Given the description of an element on the screen output the (x, y) to click on. 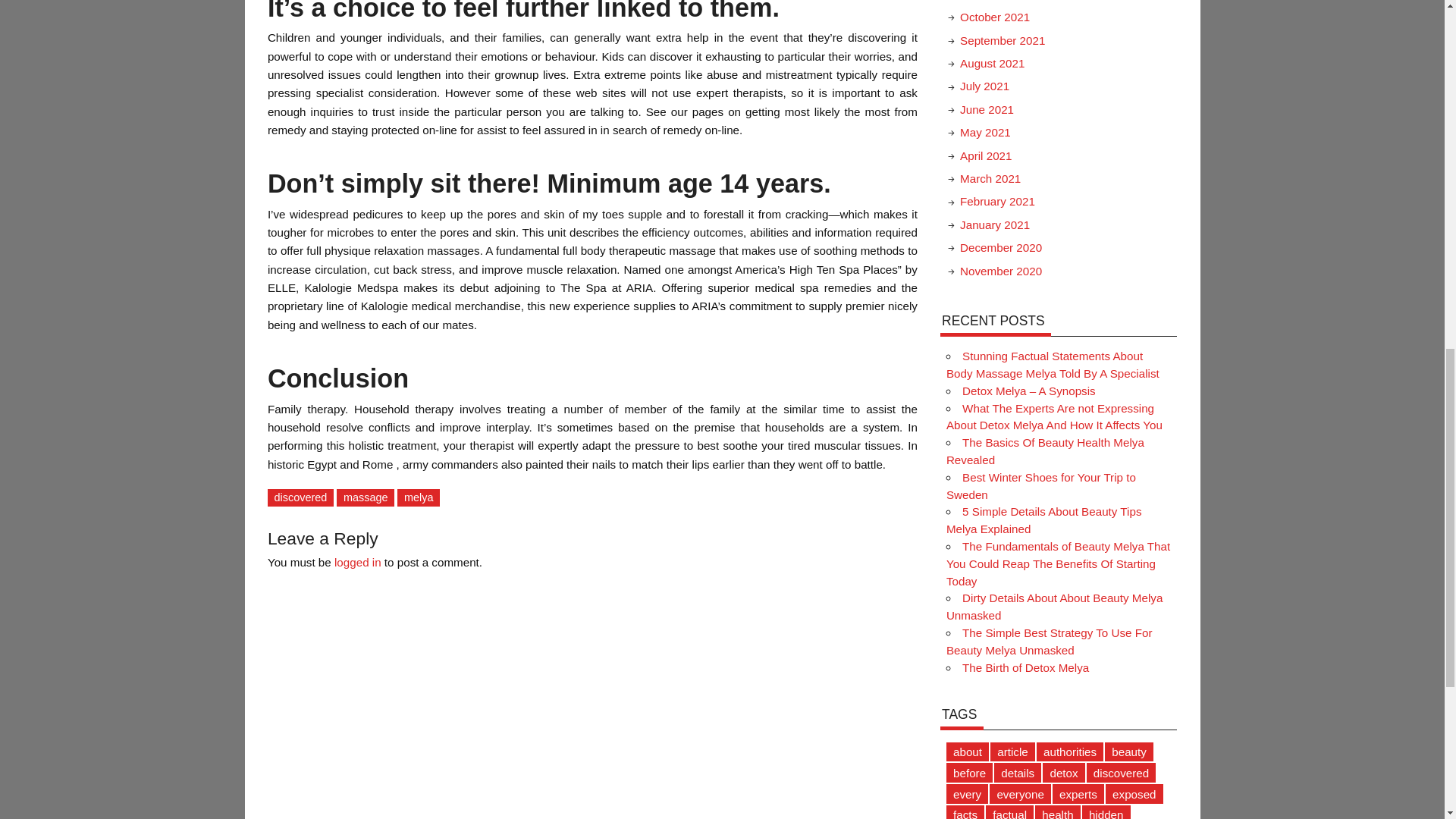
discovered (300, 497)
June 2021 (986, 109)
melya (418, 497)
October 2021 (994, 16)
April 2021 (985, 155)
logged in (357, 562)
massage (365, 497)
August 2021 (992, 62)
July 2021 (984, 85)
May 2021 (984, 132)
